Given the description of an element on the screen output the (x, y) to click on. 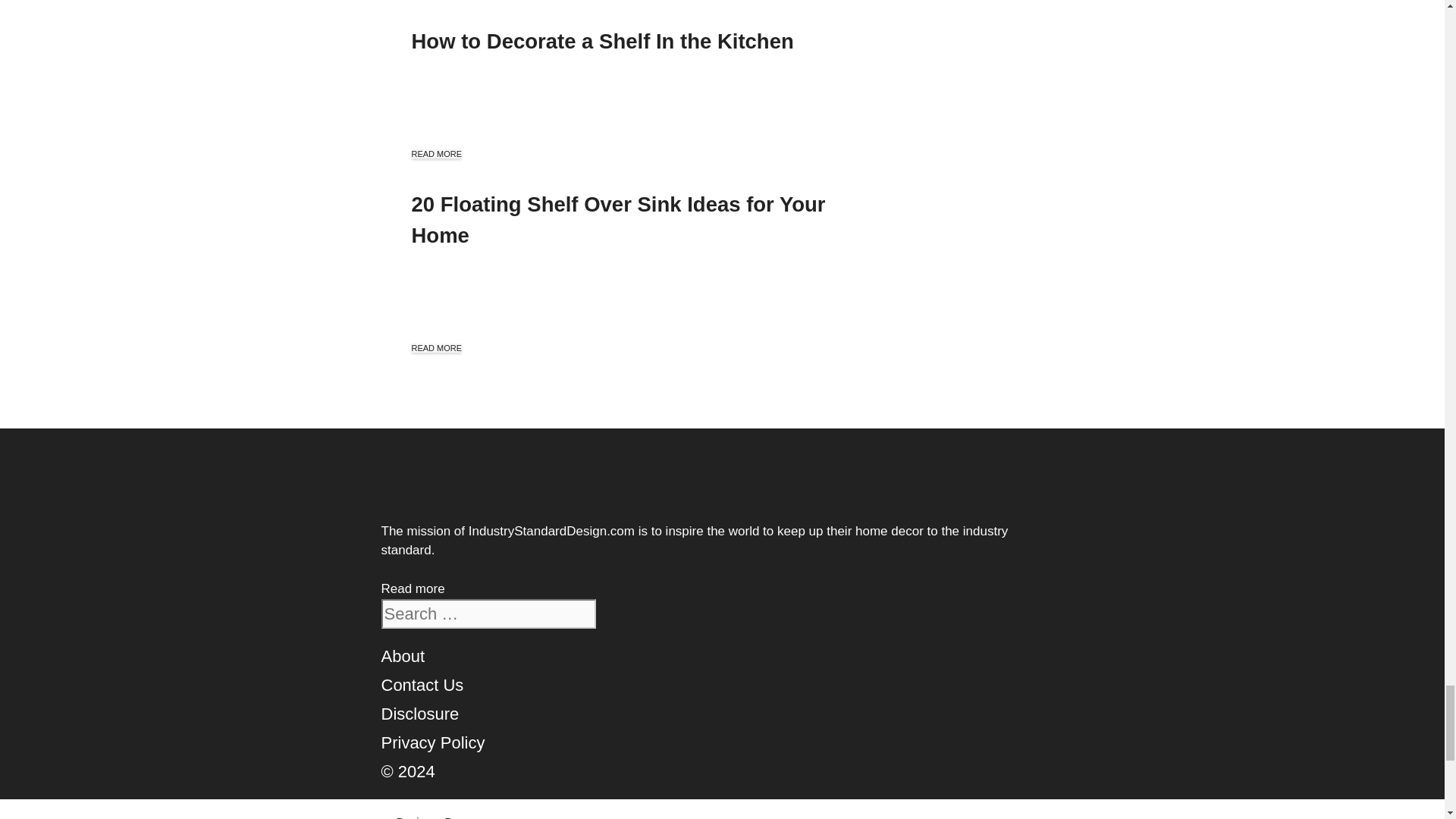
About (402, 656)
READ MORE (435, 153)
Read more (412, 588)
How to Decorate a Shelf In the Kitchen (601, 41)
20 Floating Shelf Over Sink Ideas for Your Home (617, 219)
How to Decorate a Shelf In the Kitchen (601, 41)
Contact Us (421, 684)
Search for: (487, 613)
20 Floating Shelf Over Sink Ideas for Your Home (617, 219)
READ MORE (435, 347)
